Given the description of an element on the screen output the (x, y) to click on. 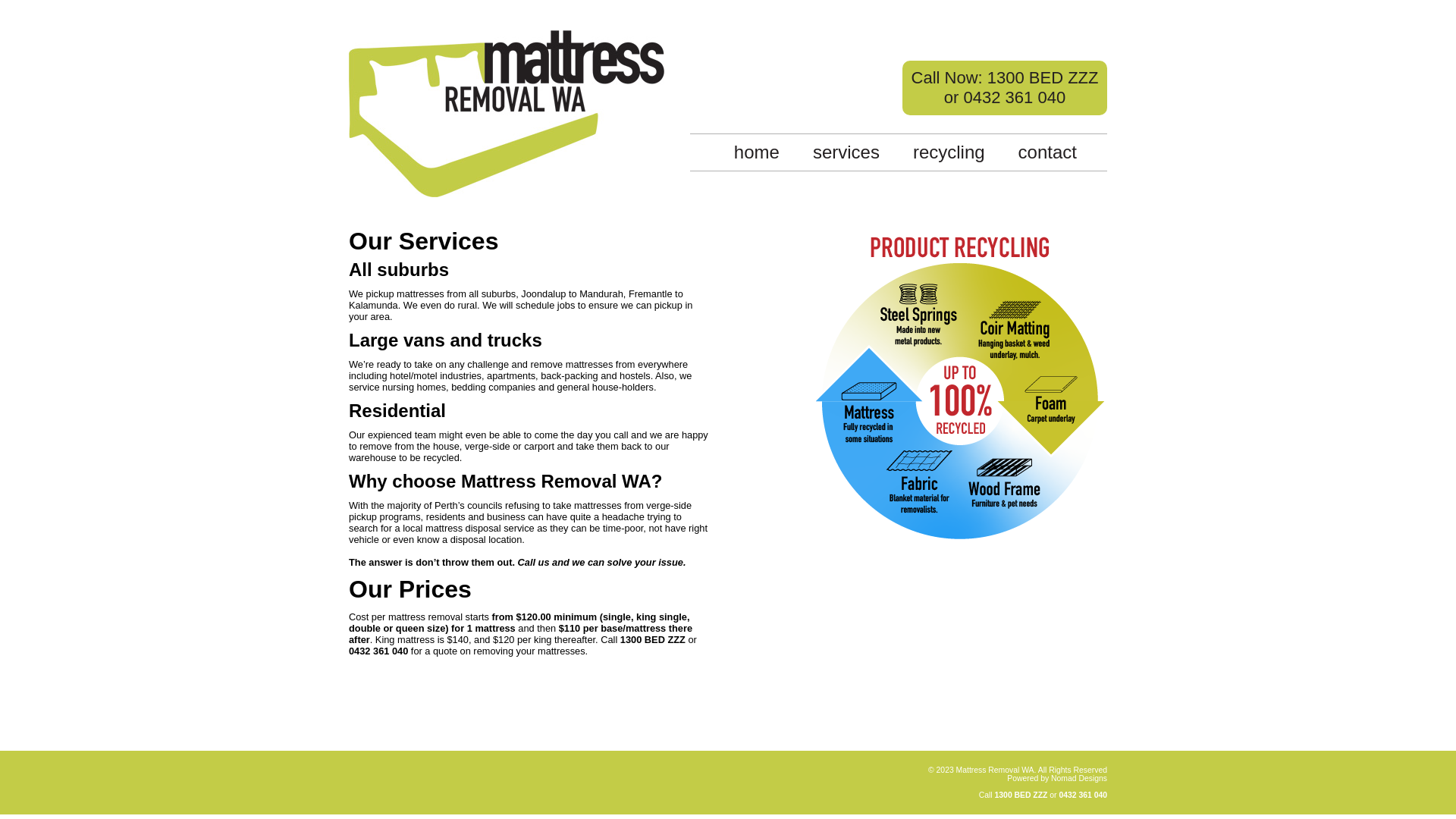
services Element type: text (845, 151)
recycling Element type: text (949, 151)
Nomad Designs Element type: text (1079, 778)
home Element type: text (756, 151)
contact Element type: text (1047, 151)
